Given the description of an element on the screen output the (x, y) to click on. 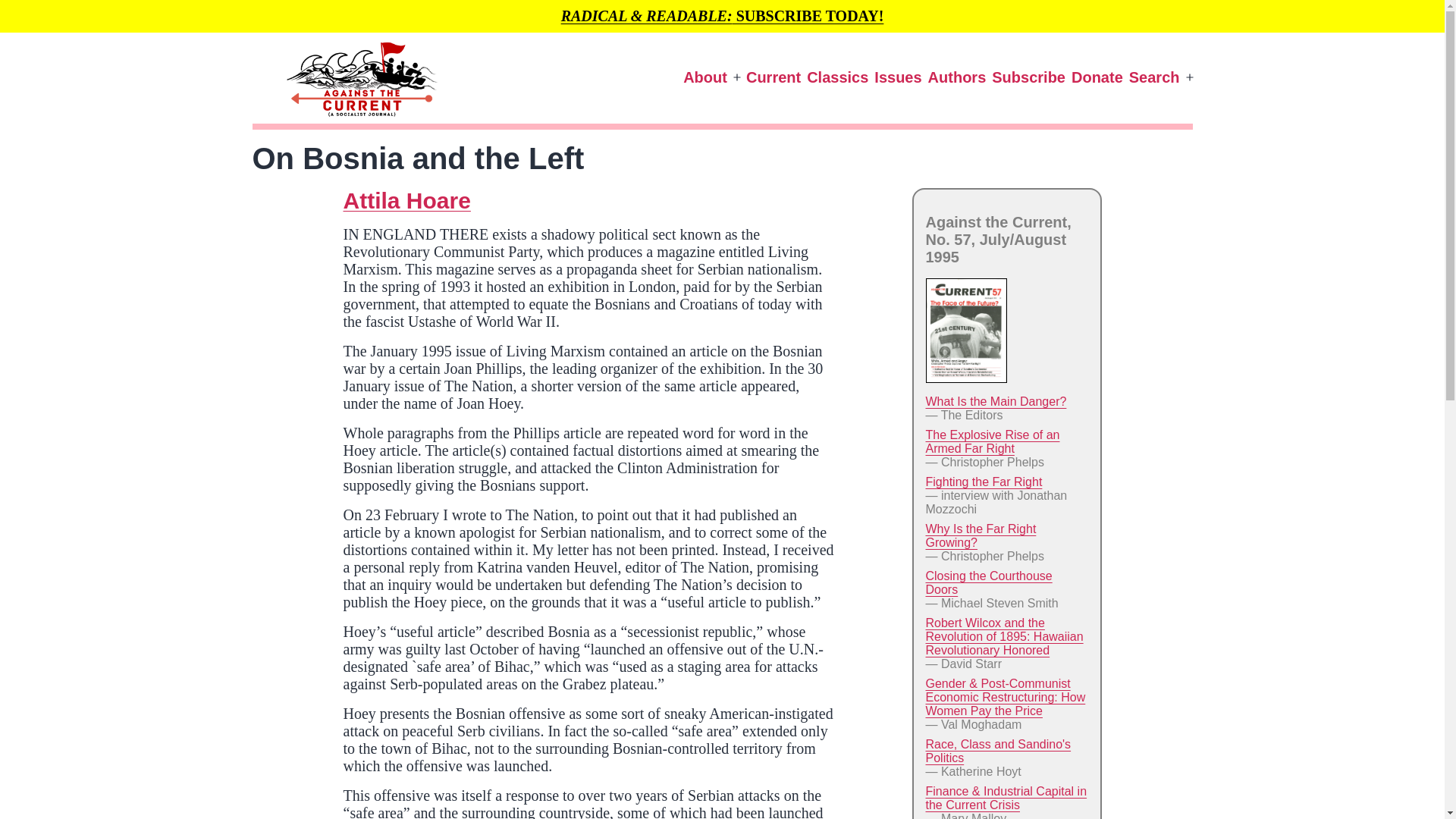
The Explosive Rise of an Armed Far Right (991, 441)
Authors (957, 78)
Current (772, 78)
Attila Hoare (406, 200)
Classics (836, 78)
What Is the Main Danger? (994, 400)
About (704, 78)
Closing the Courthouse Doors (987, 582)
Issues (897, 78)
Why Is the Far Right Growing? (979, 535)
